Given the description of an element on the screen output the (x, y) to click on. 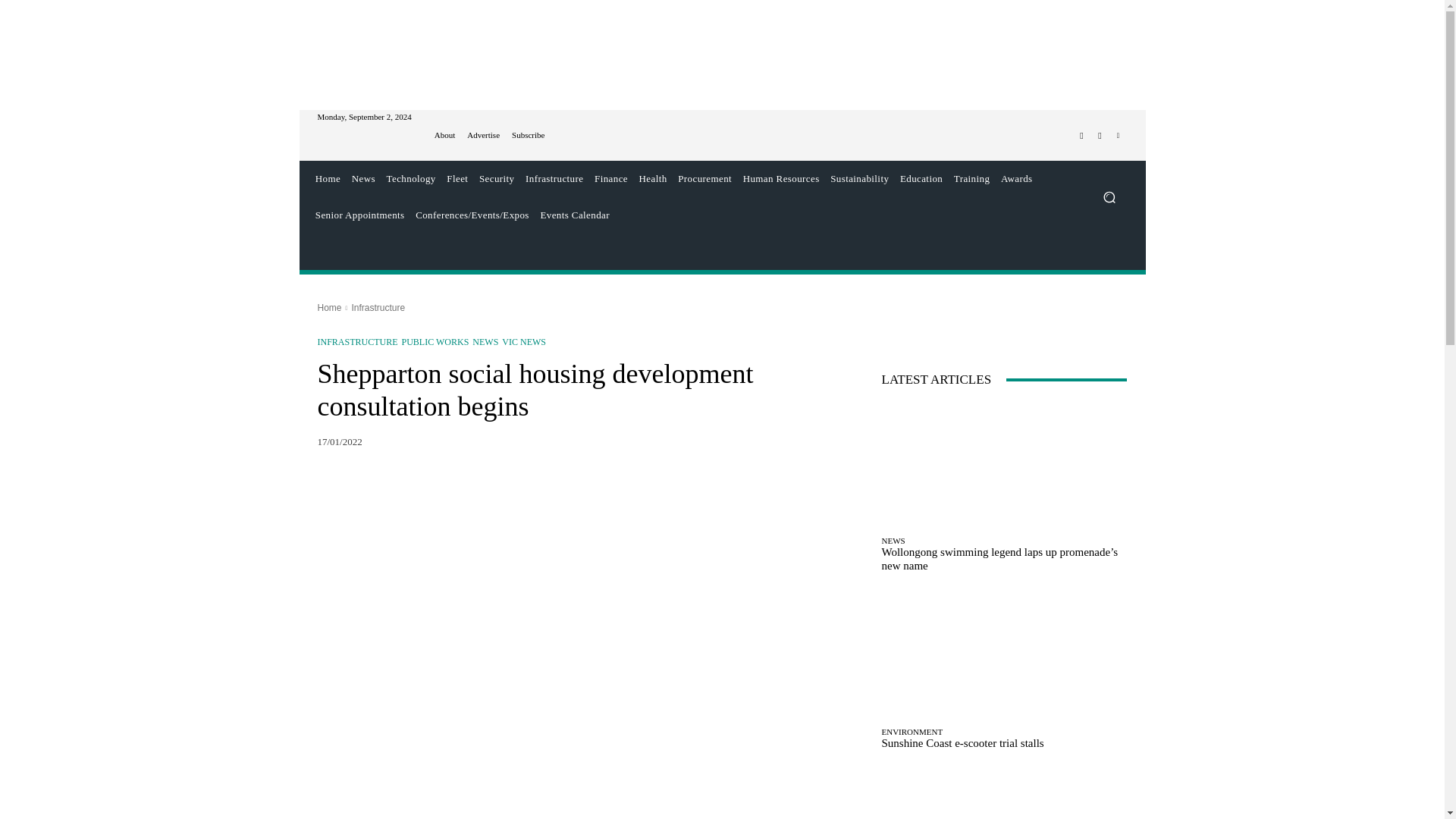
About (444, 135)
View all posts in Infrastructure (377, 307)
Subscribe (528, 135)
Home (327, 178)
Linkedin (1117, 135)
News (363, 178)
Twitter (1099, 135)
Advertise (483, 135)
Facebook (1080, 135)
